Given the description of an element on the screen output the (x, y) to click on. 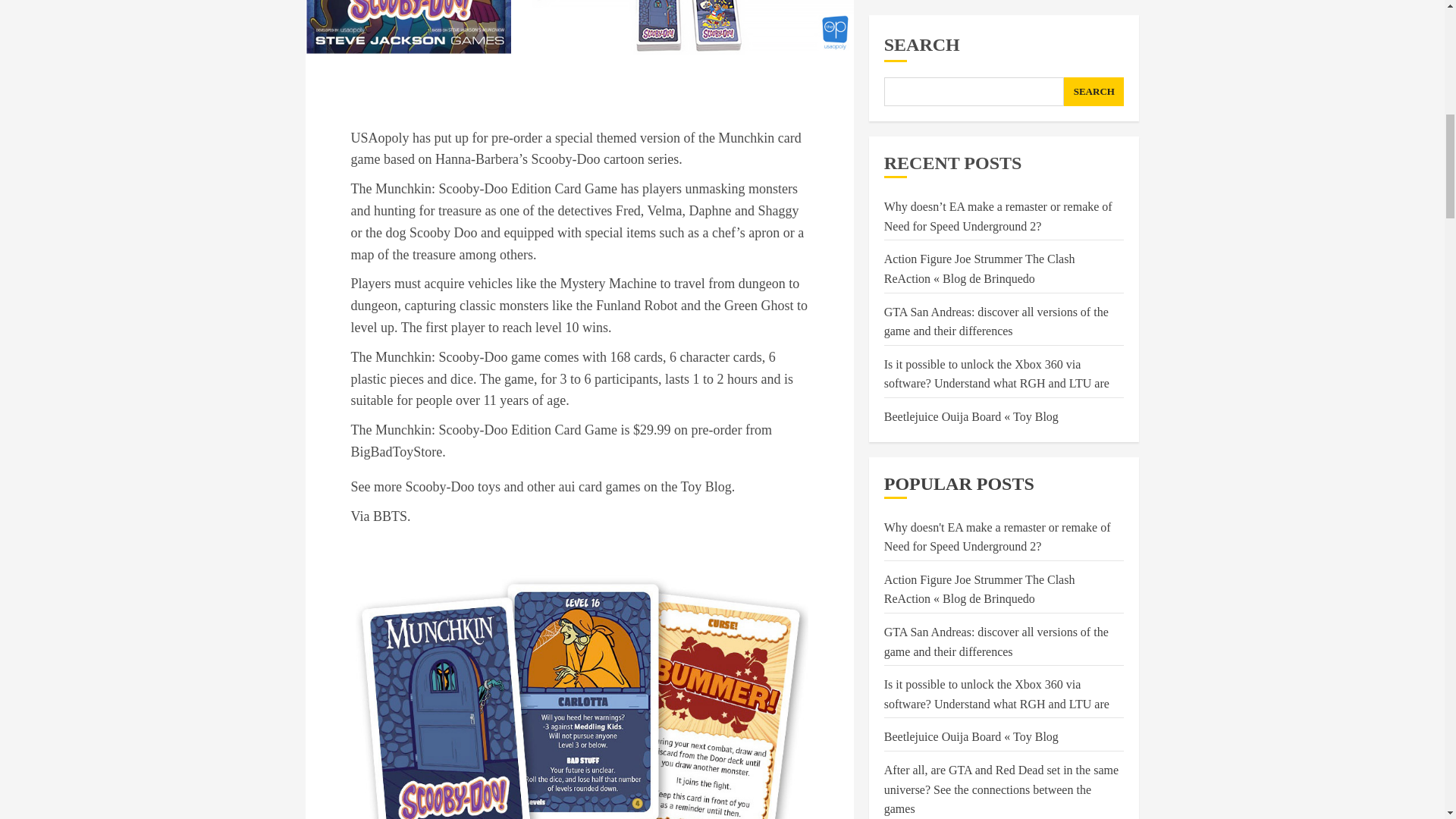
How to defeat Malenia in Elden Ring? (977, 178)
